Given the description of an element on the screen output the (x, y) to click on. 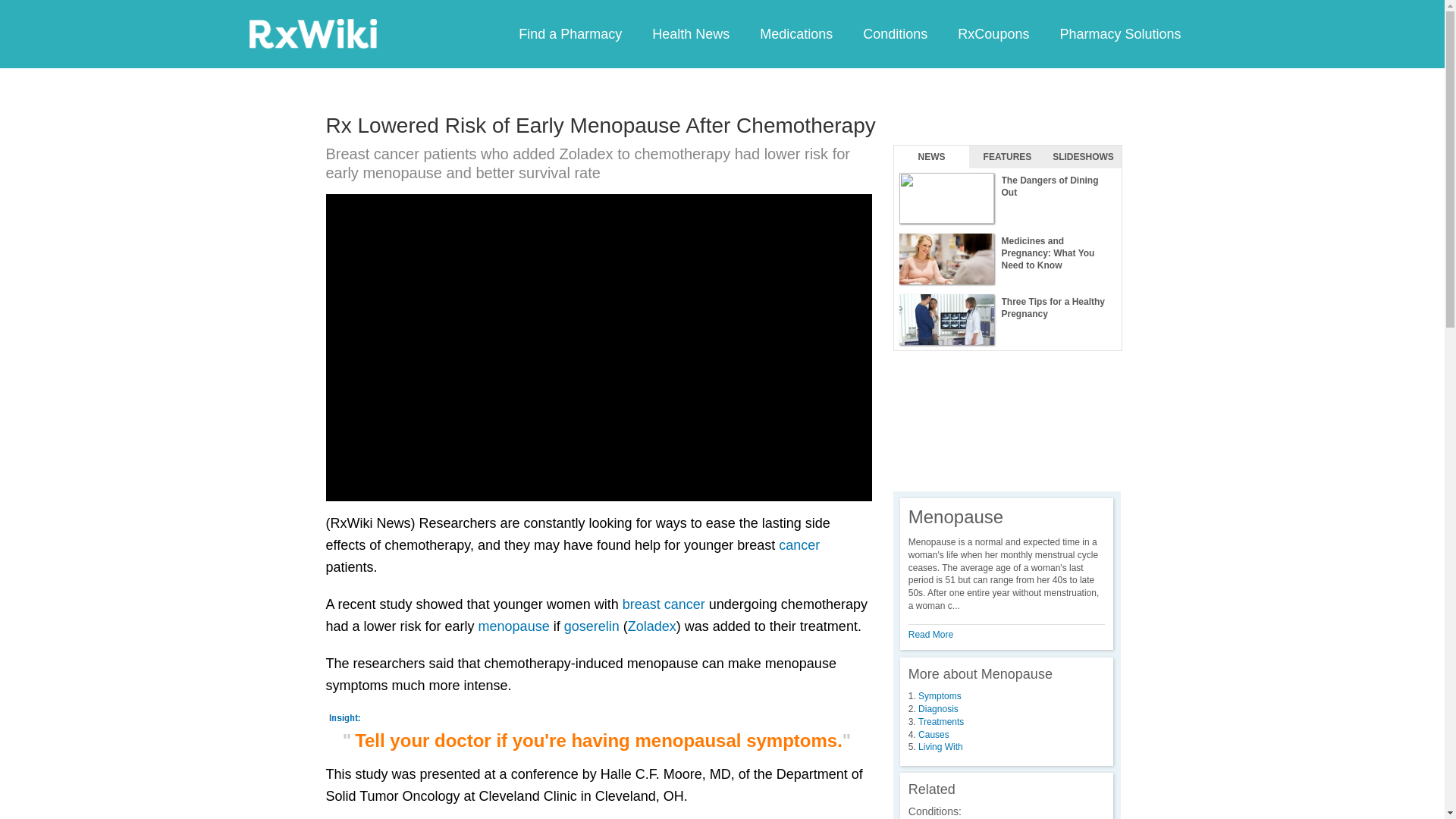
RxWiki (312, 32)
Find a Pharmacy (570, 33)
NEWS (931, 156)
Zoladex (652, 626)
SLIDESHOWS (1083, 156)
Three Tips for a Healthy Pregnancy (1007, 319)
Conditions (894, 33)
goserelin (592, 626)
Pharmacy Solutions (1119, 33)
breast cancer (663, 604)
Medications (795, 33)
Health News (690, 33)
The Dangers of Dining Out (1007, 198)
menopause (514, 626)
Medicines and Pregnancy: What You Need to Know (1007, 259)
